Given the description of an element on the screen output the (x, y) to click on. 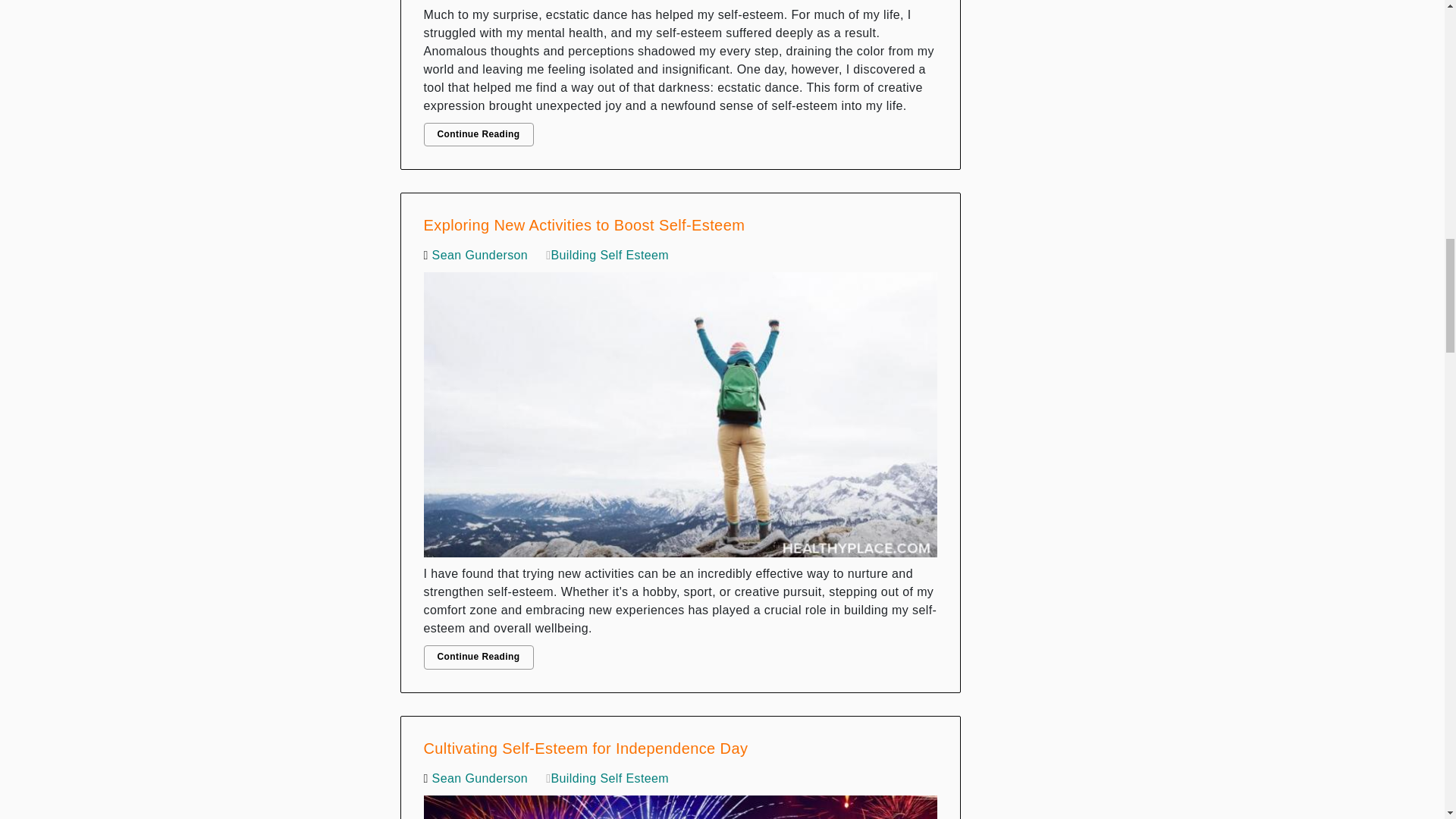
Cultivating Self-Esteem for Independence Day (680, 803)
